Given the description of an element on the screen output the (x, y) to click on. 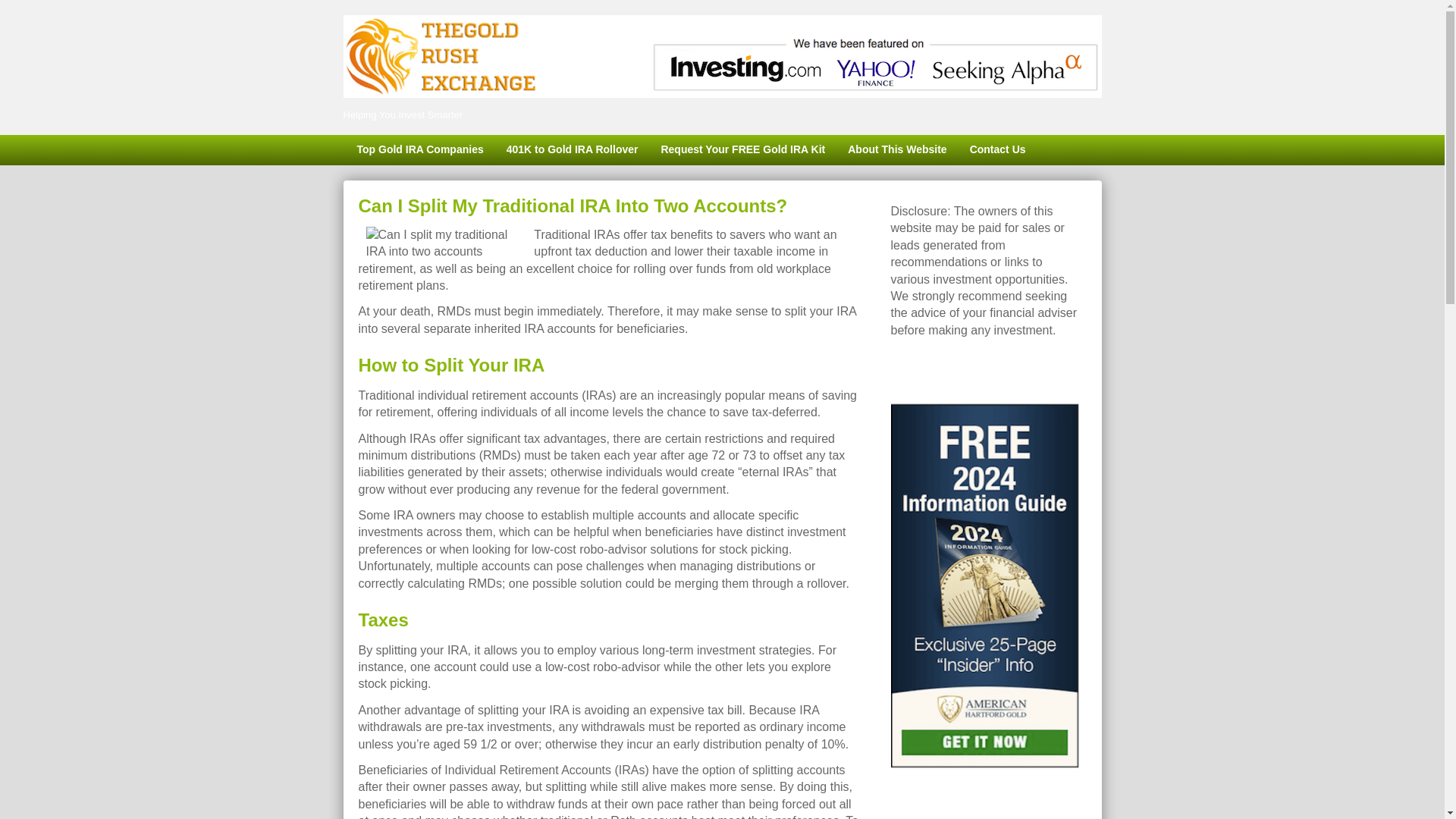
Top Gold IRA Companies (418, 150)
401K to Gold IRA Rollover (572, 150)
About This Website (896, 150)
Request Your FREE Gold IRA Kit (742, 150)
Contact Us (997, 150)
